Given the description of an element on the screen output the (x, y) to click on. 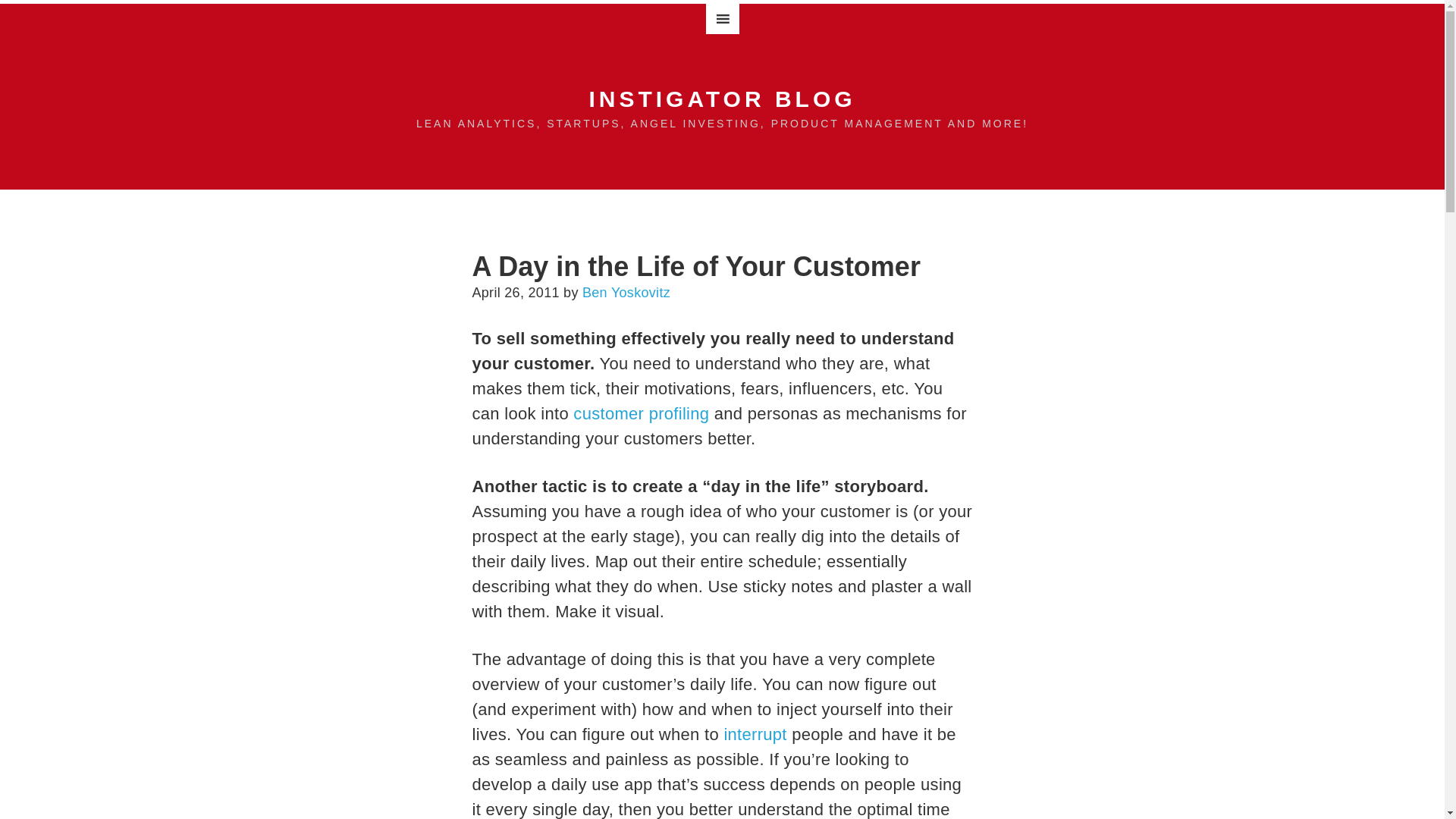
customer profiling (641, 413)
Ben Yoskovitz (625, 292)
interrupt (754, 733)
INSTIGATOR BLOG (722, 98)
